Given the description of an element on the screen output the (x, y) to click on. 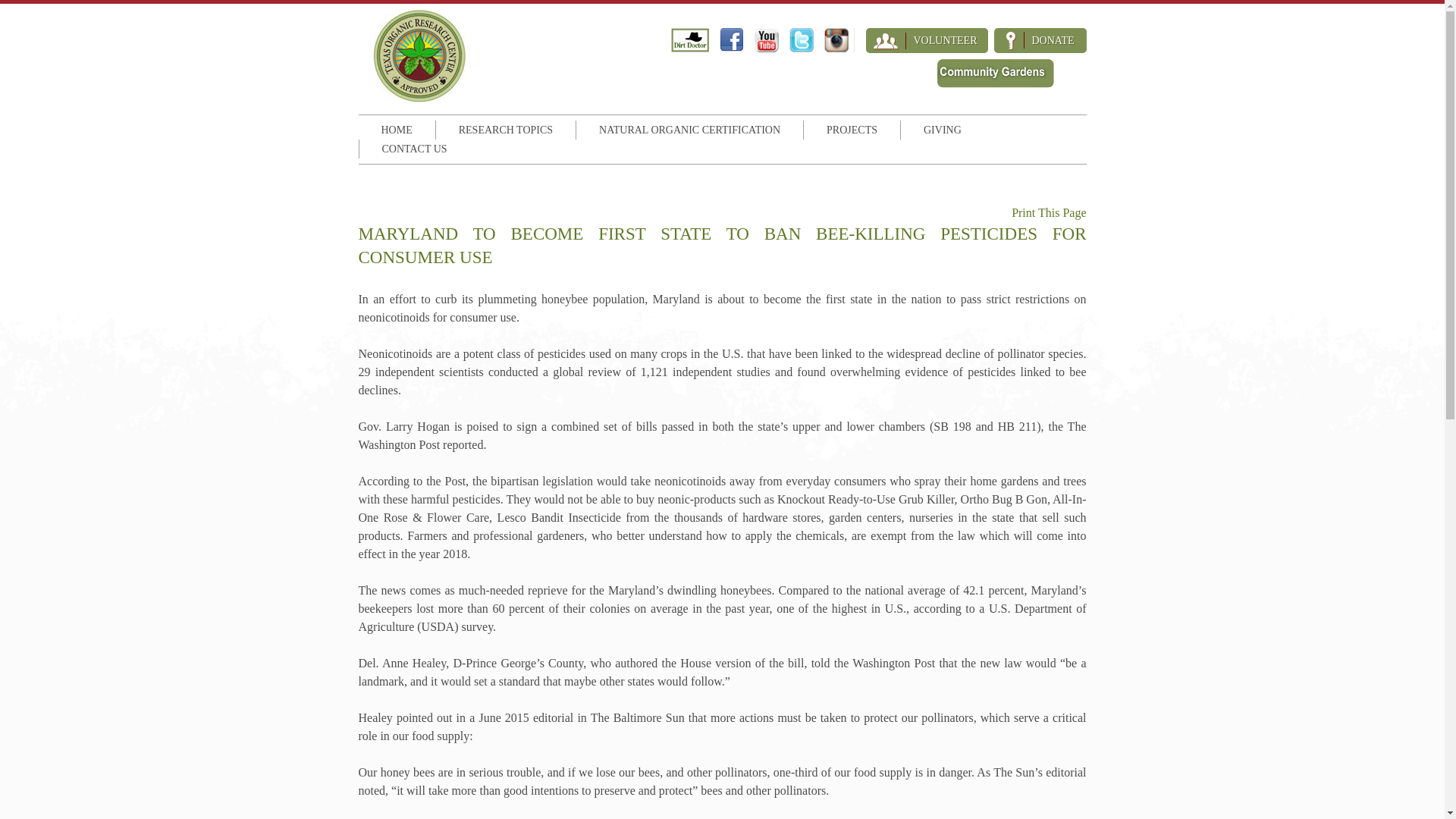
CONTACT US (414, 148)
NATURAL ORGANIC CERTIFICATION (689, 129)
HOME (395, 129)
PROJECTS (851, 129)
VOLUNTEER (927, 40)
Print This Page (1048, 212)
RESEARCH TOPICS (505, 129)
DONATE (1039, 40)
GIVING (942, 129)
